Given the description of an element on the screen output the (x, y) to click on. 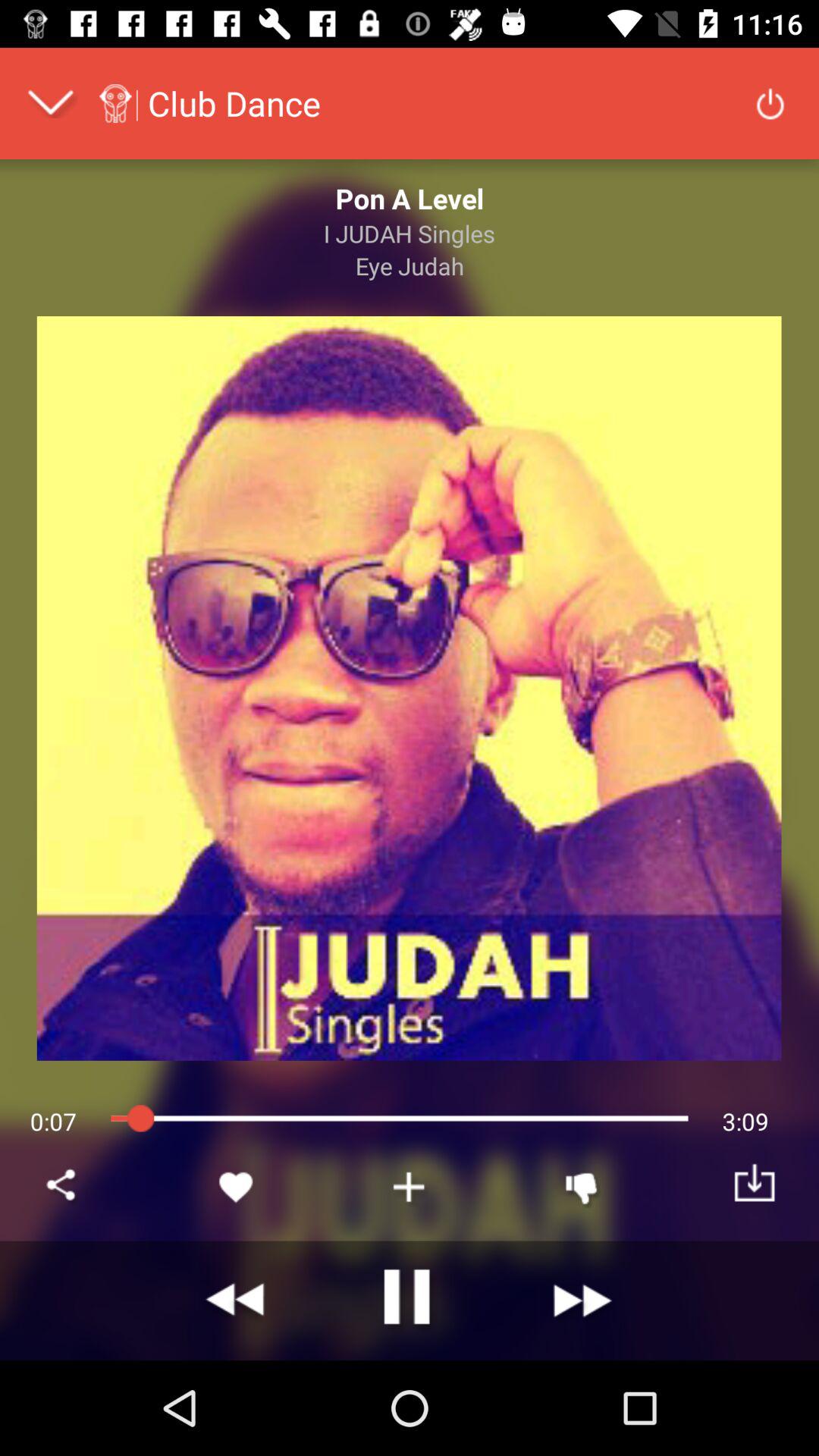
toggle on/of (770, 102)
